Given the description of an element on the screen output the (x, y) to click on. 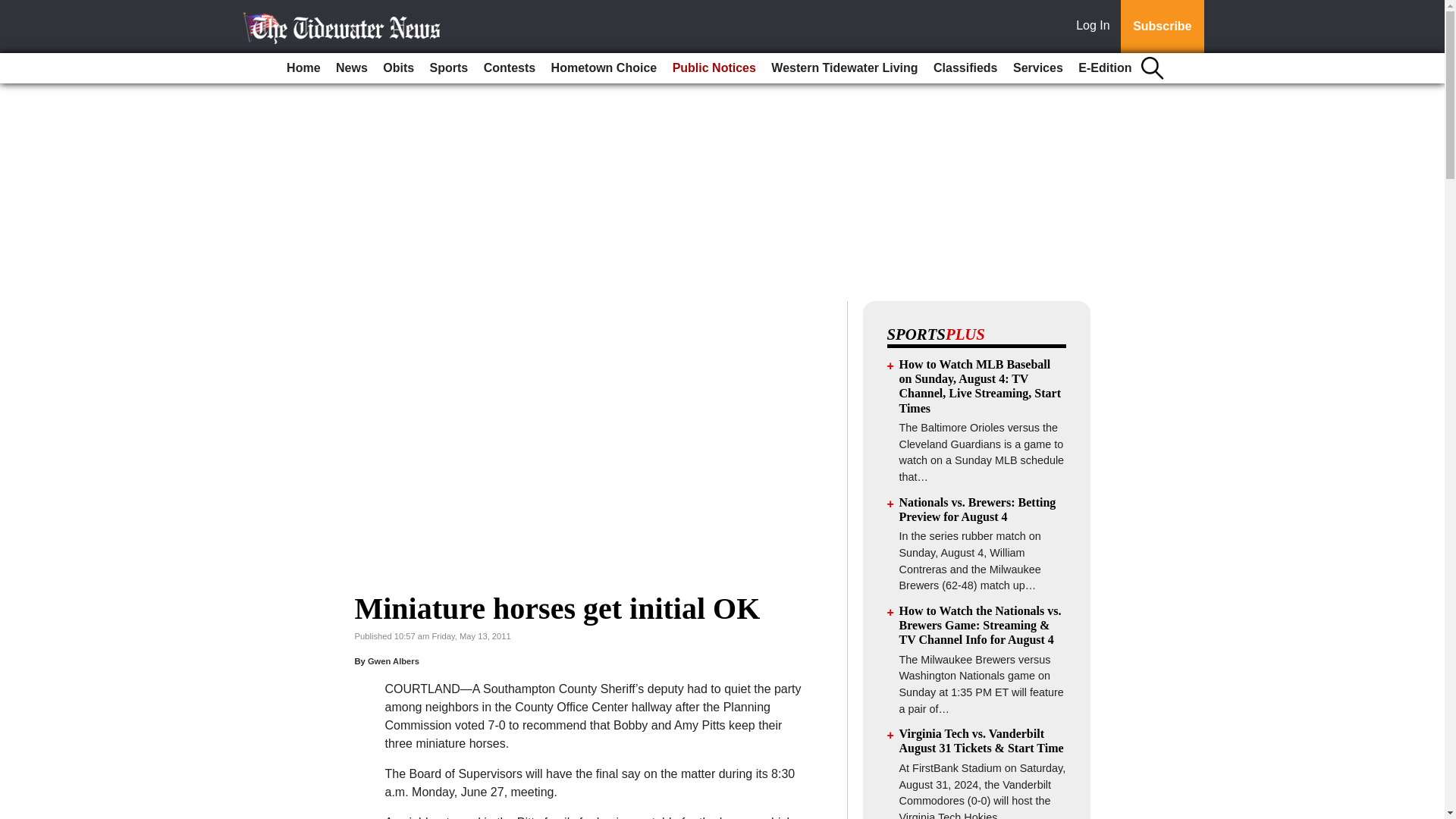
Services (1037, 68)
Contests (509, 68)
Public Notices (713, 68)
News (352, 68)
Home (303, 68)
Go (13, 9)
Sports (448, 68)
Subscribe (1162, 26)
E-Edition (1104, 68)
Log In (1095, 26)
Western Tidewater Living (844, 68)
Gwen Albers (393, 660)
Hometown Choice (603, 68)
Classifieds (965, 68)
Obits (398, 68)
